Given the description of an element on the screen output the (x, y) to click on. 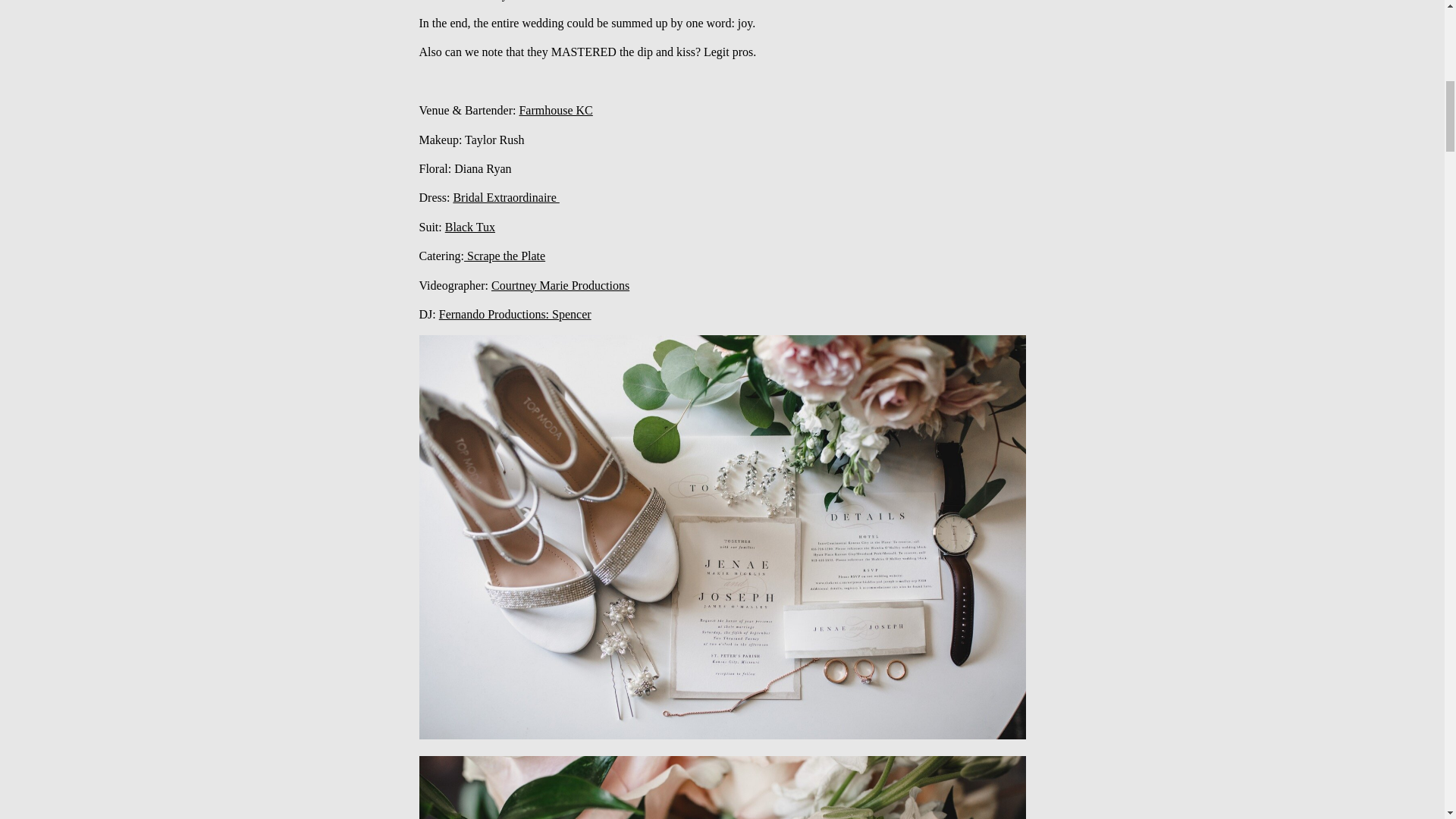
 Scrape the Plate (504, 255)
Black Tux (470, 226)
Bridal Extraordinaire  (505, 196)
Courtney Marie Productions (560, 285)
Farmhouse KC (555, 110)
Fernando Productions: Spencer (515, 314)
